Given the description of an element on the screen output the (x, y) to click on. 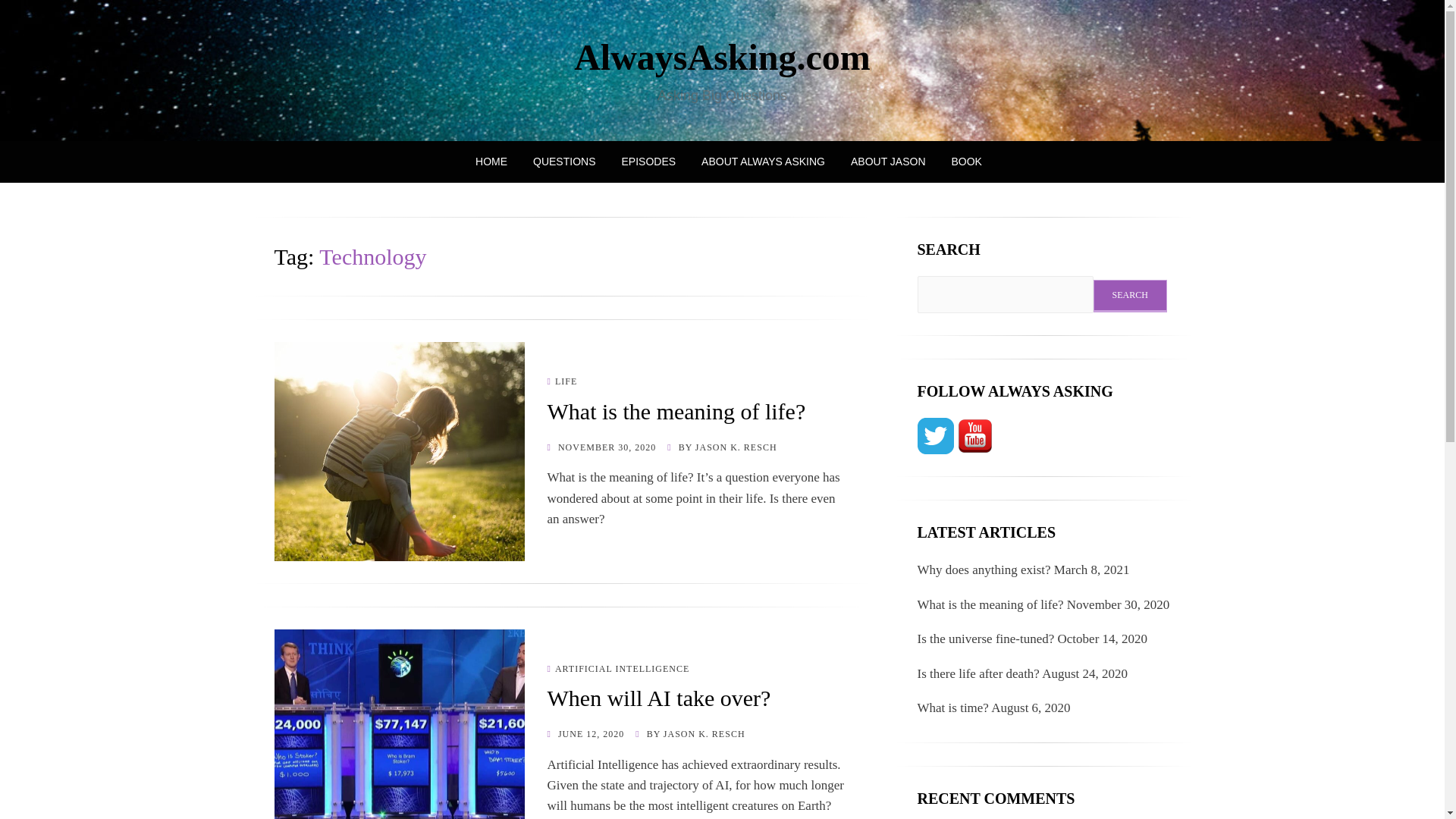
Life (562, 380)
When will AI take over? (659, 697)
ABOUT ALWAYS ASKING (763, 161)
BOOK (960, 161)
Is there life after death? (978, 673)
ARTIFICIAL INTELLIGENCE (618, 668)
What is time? (952, 707)
JASON K. RESCH (704, 733)
What is the meaning of life? (676, 411)
LIFE (562, 380)
NOVEMBER 30, 2020 (601, 447)
Artificial Intelligence (618, 668)
ABOUT JASON (888, 161)
QUESTIONS (563, 161)
JUNE 12, 2020 (585, 733)
